Given the description of an element on the screen output the (x, y) to click on. 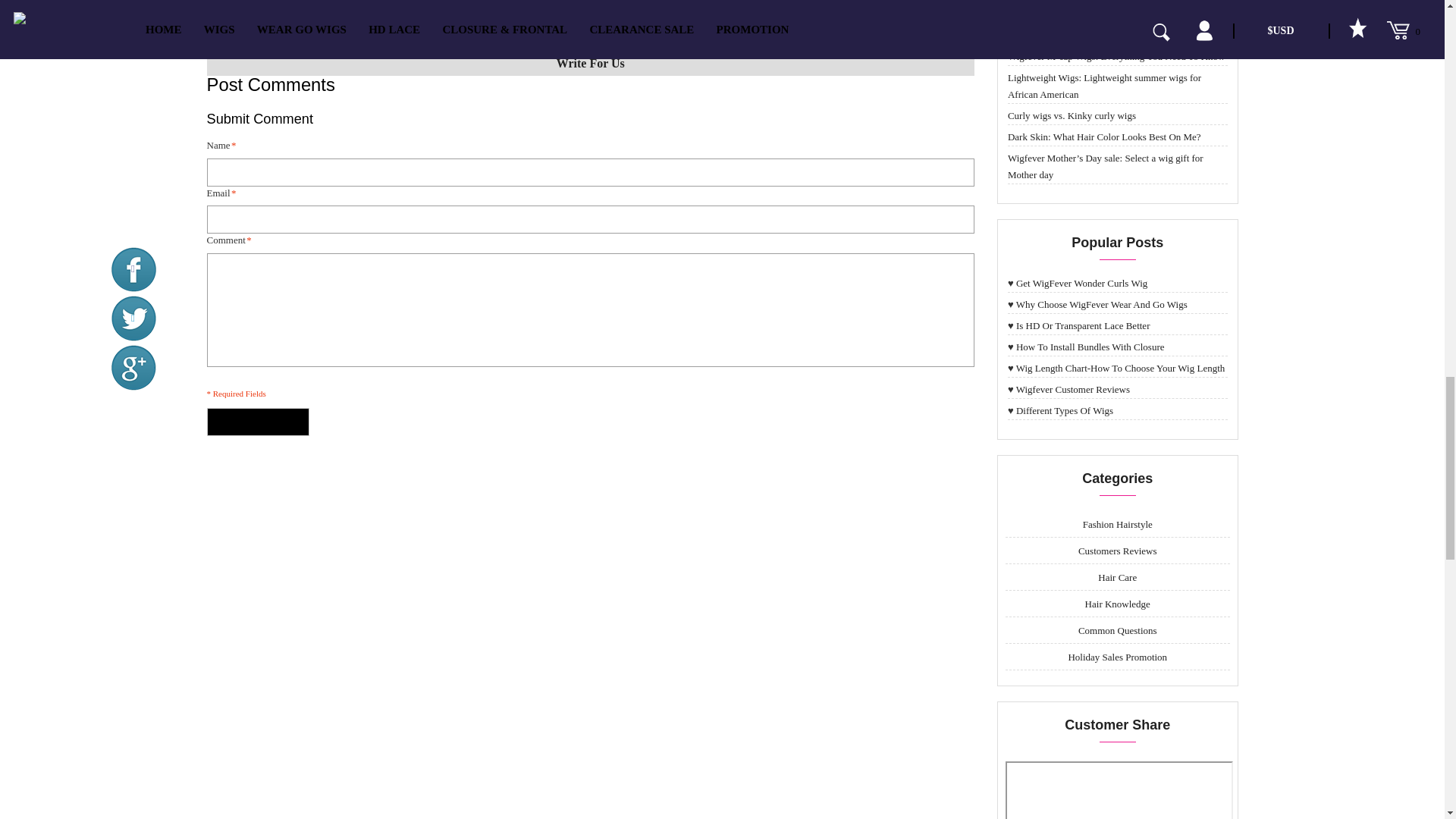
Comment (590, 309)
Email (590, 219)
Name (590, 172)
